Given the description of an element on the screen output the (x, y) to click on. 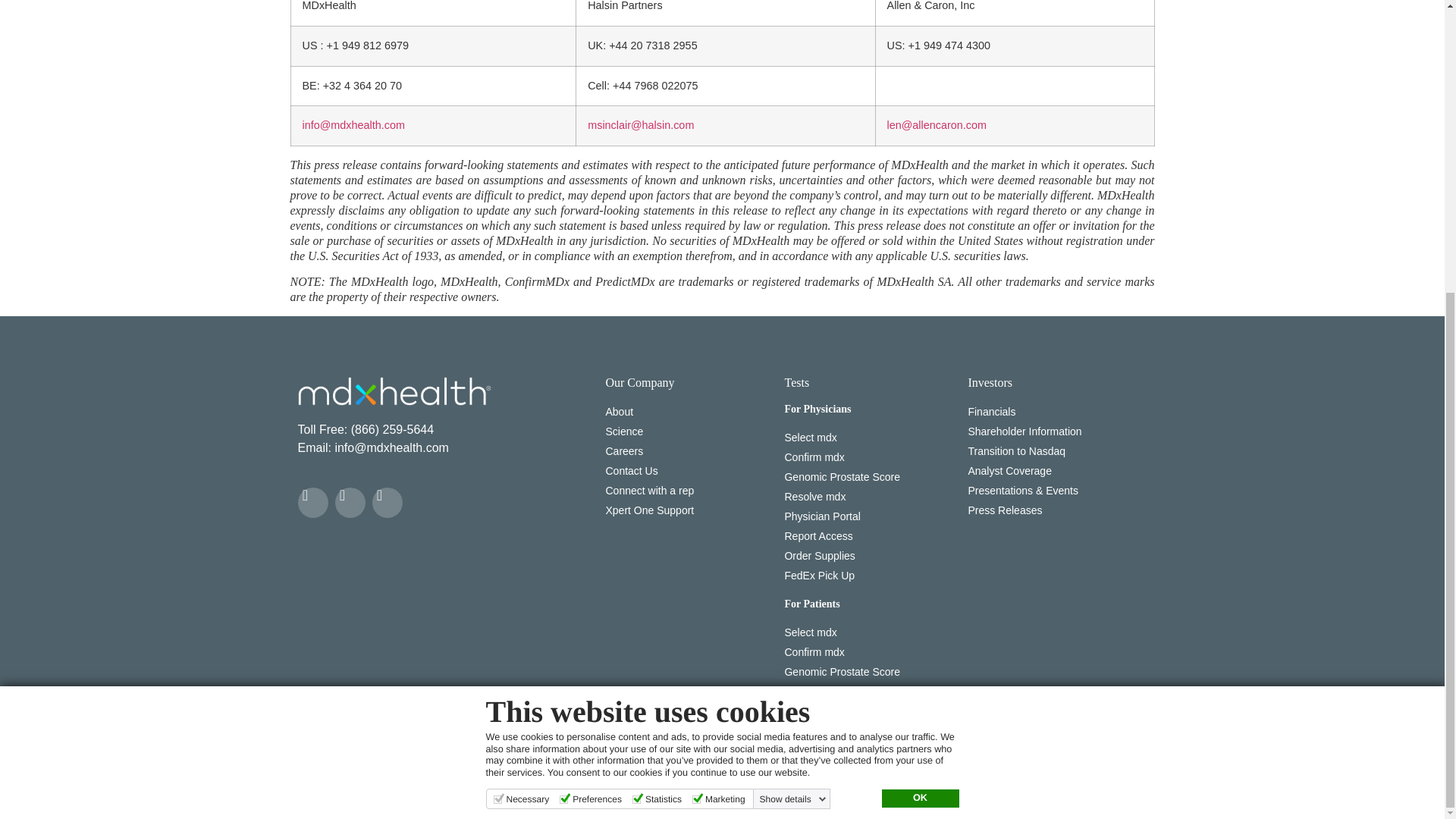
Show details (793, 350)
OK (919, 350)
